Given the description of an element on the screen output the (x, y) to click on. 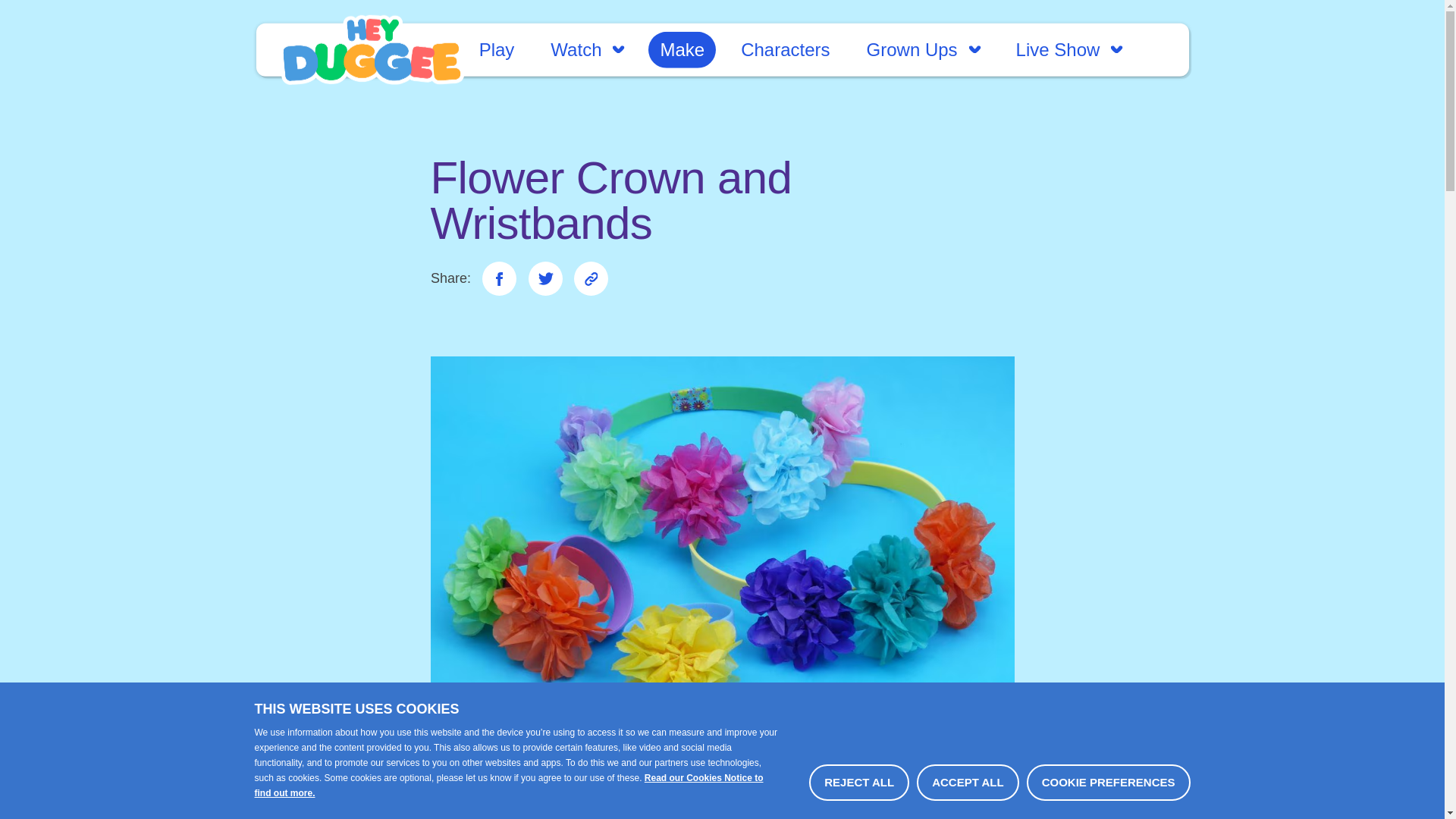
Make (681, 49)
Play (496, 49)
Grown Ups (923, 49)
REJECT ALL (858, 782)
Live Show (1069, 49)
Home page (371, 49)
Watch (586, 49)
COOKIE PREFERENCES (1108, 782)
ACCEPT ALL (967, 782)
Read our Cookies Notice to find out more. (508, 785)
